Given the description of an element on the screen output the (x, y) to click on. 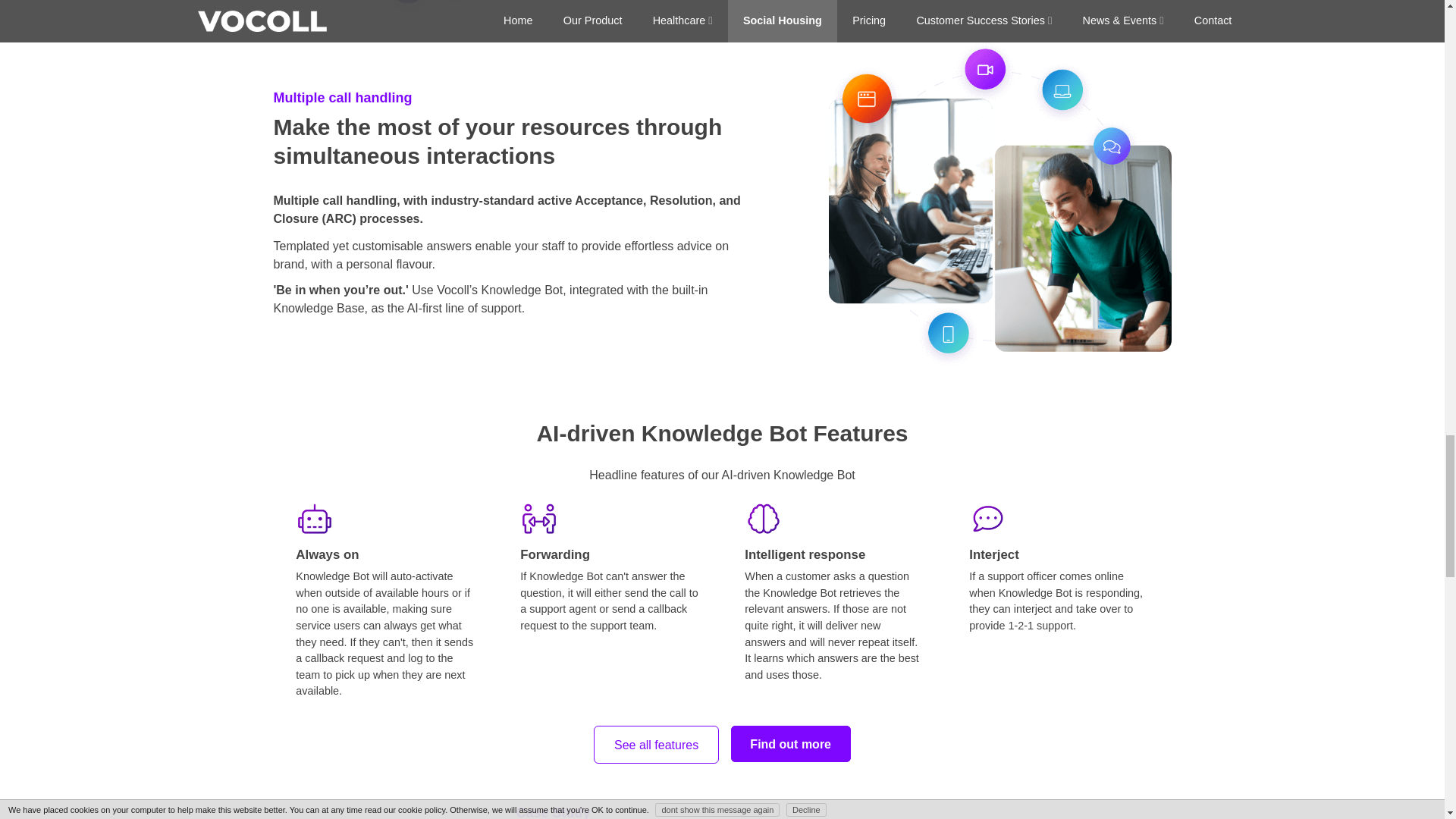
Find out more (790, 743)
See all features (655, 744)
